Given the description of an element on the screen output the (x, y) to click on. 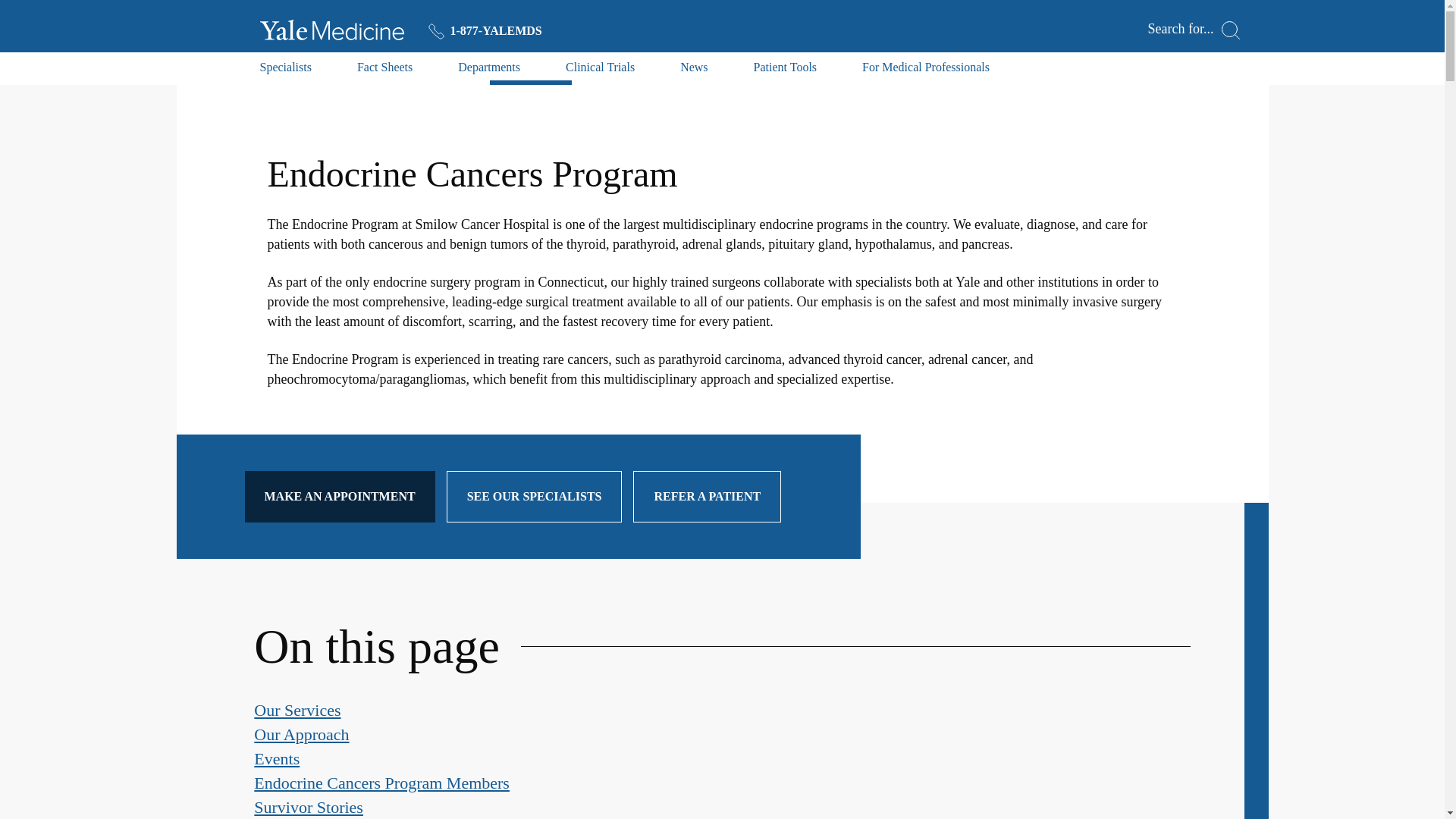
Fact Sheets (384, 71)
Search for (1193, 31)
Specialists (285, 71)
Endocrine Cancers Program Members (381, 782)
MAKE AN APPOINTMENT (338, 496)
Our Approach (301, 733)
Survivor Stories (307, 806)
Survivor Stories (307, 806)
Clinical Trials (600, 71)
Departments (488, 71)
SEE OUR SPECIALISTS (534, 496)
1-877-YALEMDS (484, 31)
Endocrine Cancers Program Members (381, 782)
Our Services (296, 710)
Events (276, 758)
